Given the description of an element on the screen output the (x, y) to click on. 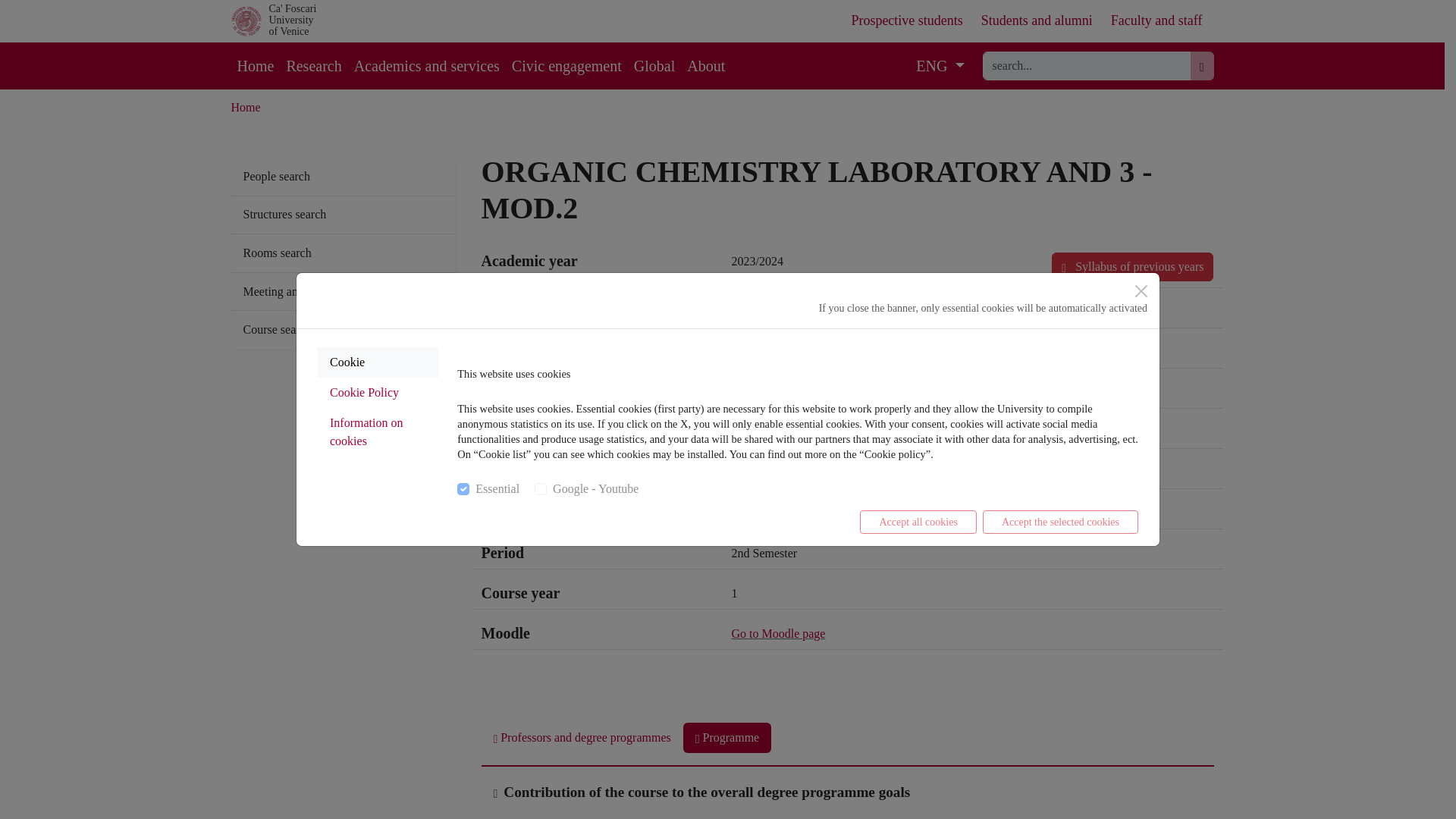
People search (342, 177)
search (1086, 65)
ENG (939, 65)
Rooms search (342, 253)
Home (245, 106)
Go to Moodle page (777, 633)
Syllabus of previous years (1131, 266)
Programme (726, 737)
Professors and degree programmes (581, 737)
Prospective students (906, 20)
Global (654, 65)
CHIMICA ORGANICA 3 E LABORATORIO - MOD.2 (867, 311)
Structures search (342, 215)
Civic engagement (566, 65)
Academics and services (426, 65)
